Given the description of an element on the screen output the (x, y) to click on. 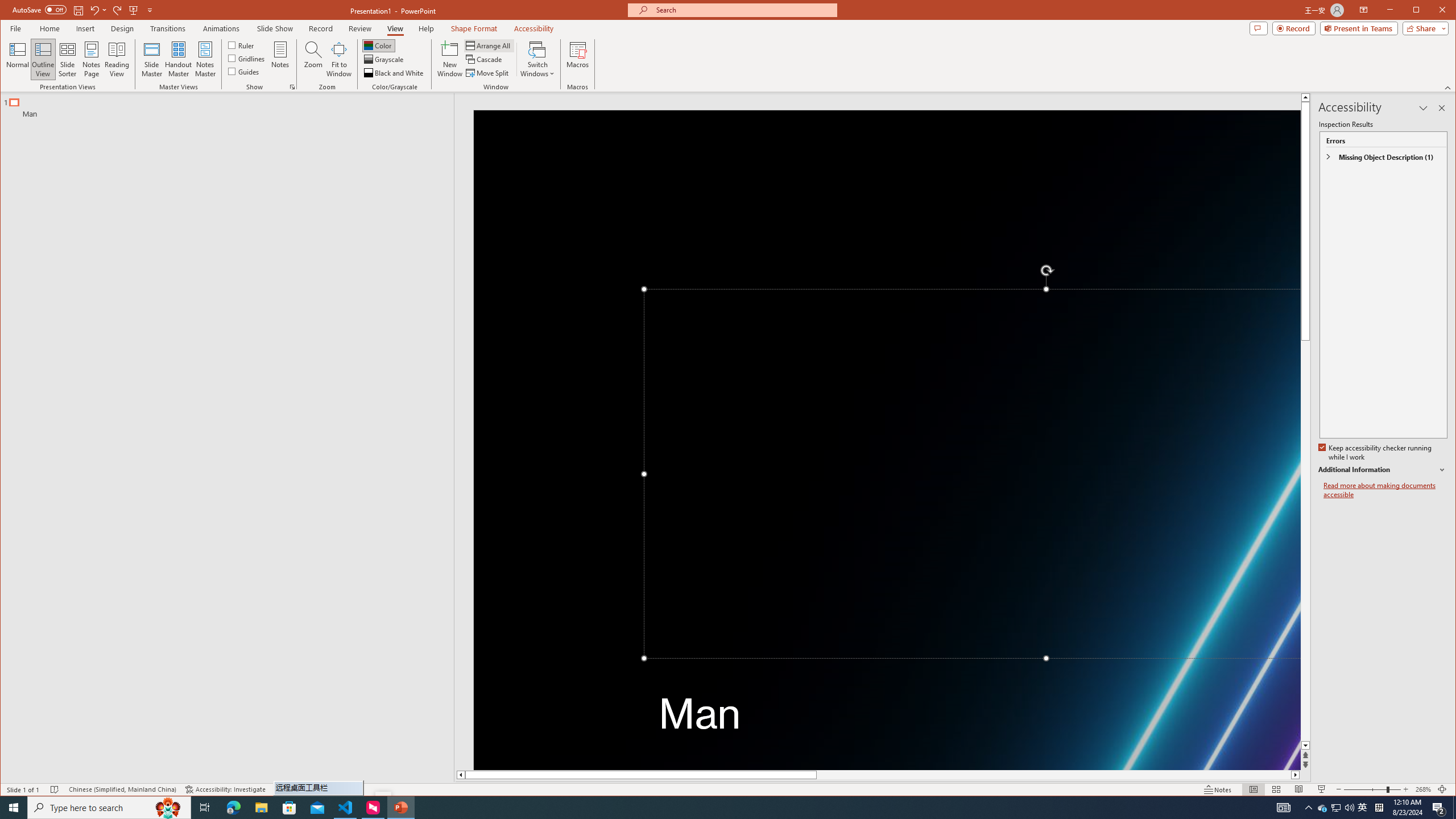
Ruler (241, 44)
Move Split (488, 72)
